Given the description of an element on the screen output the (x, y) to click on. 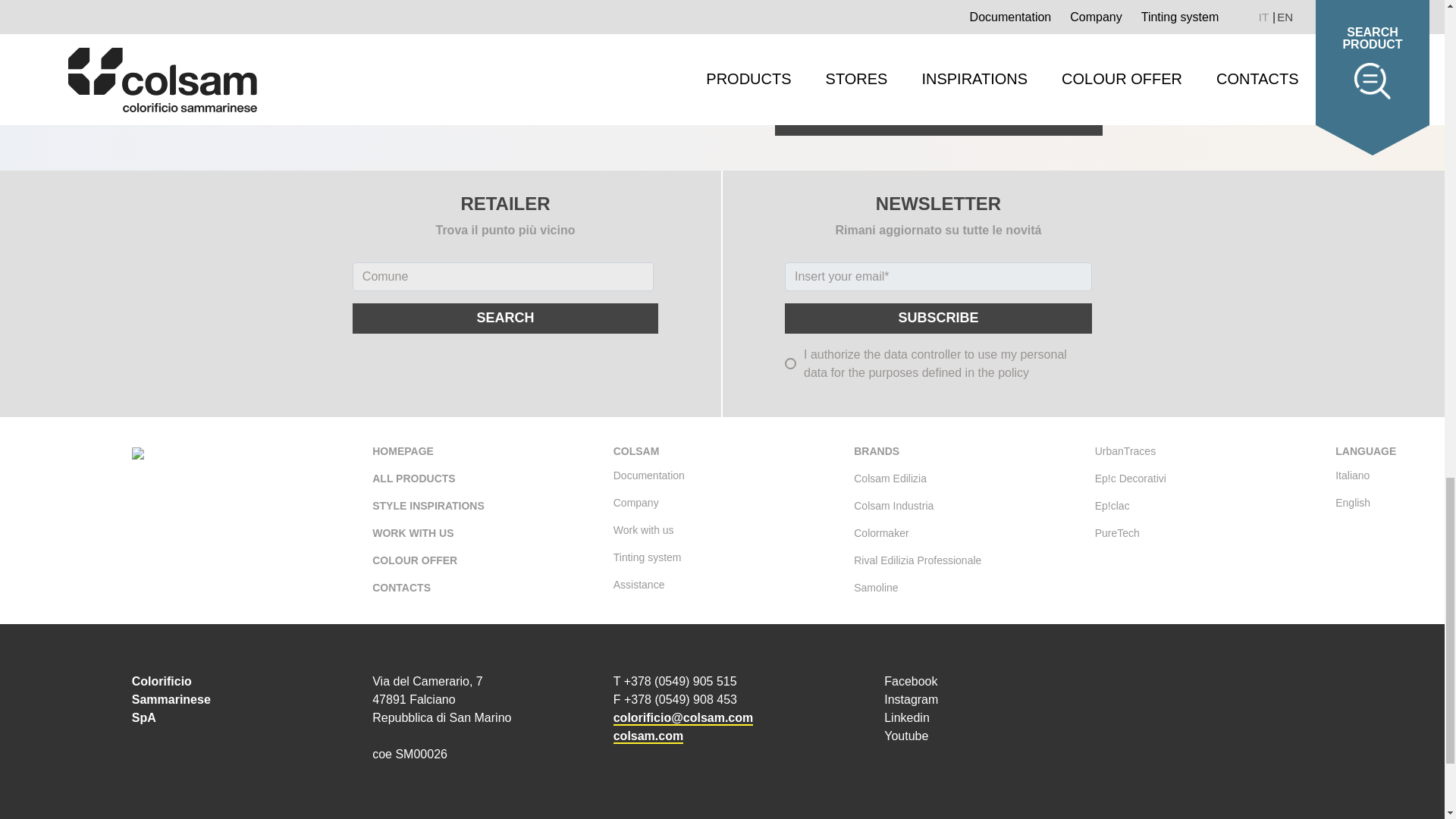
Subscribe (938, 318)
Invia (938, 120)
STYLE INSPIRATIONS (428, 506)
Subscribe (938, 318)
Search (505, 318)
Invia (938, 120)
WORK WITH US (412, 533)
ALL PRODUCTS (413, 479)
CONTACTS (401, 586)
COLOUR OFFER (414, 561)
HOMEPAGE (402, 455)
Search (505, 318)
1 (752, 33)
